Given the description of an element on the screen output the (x, y) to click on. 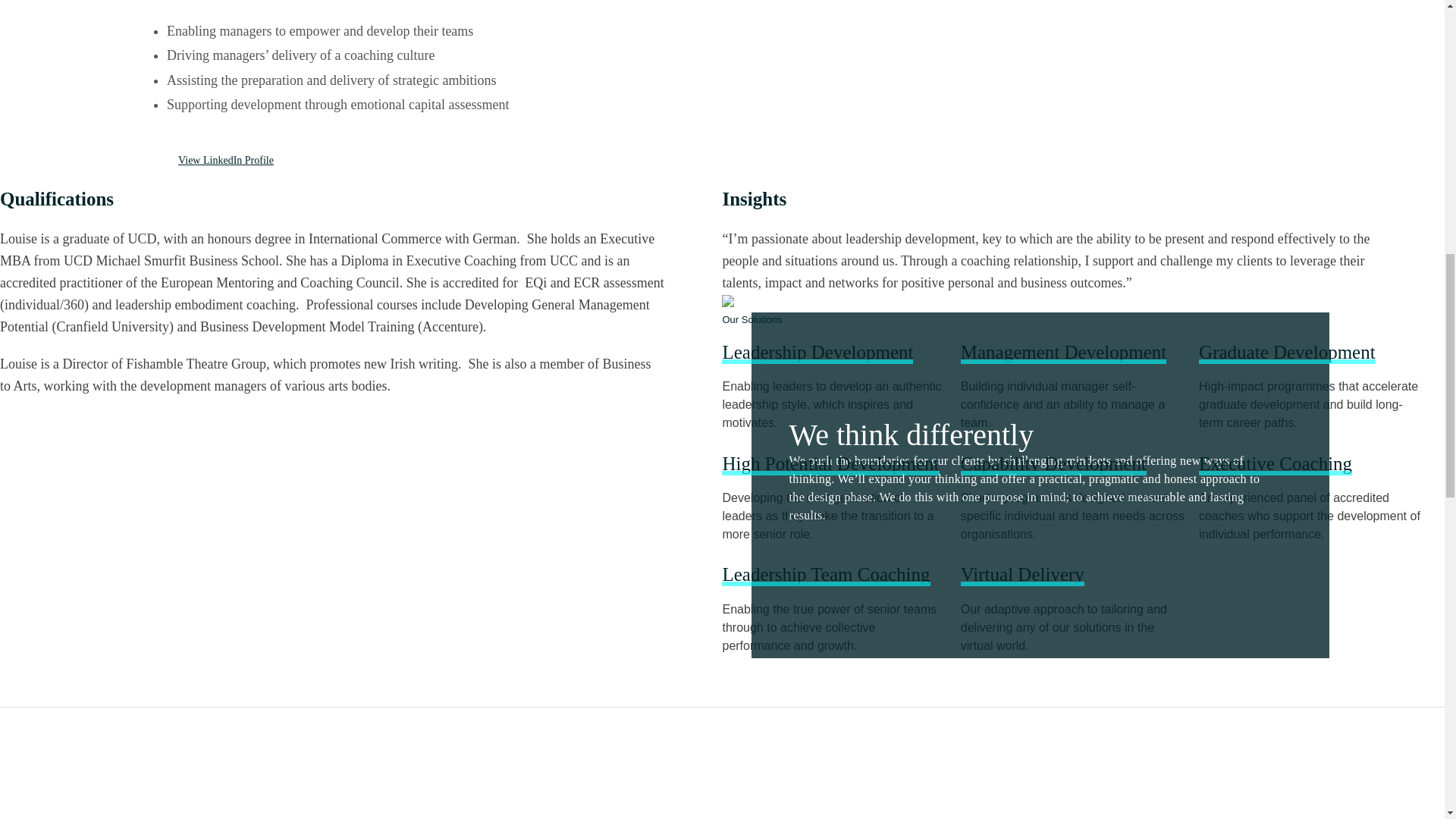
Executive Coaching (1275, 463)
Management Development (1063, 352)
Graduate Development (1286, 352)
High Potential Development (830, 463)
Leadership Team Coaching (826, 574)
Virtual Delivery (1022, 574)
Leadership Development (817, 352)
Capability Development (1053, 463)
View LinkedIn Profile (220, 160)
